Given the description of an element on the screen output the (x, y) to click on. 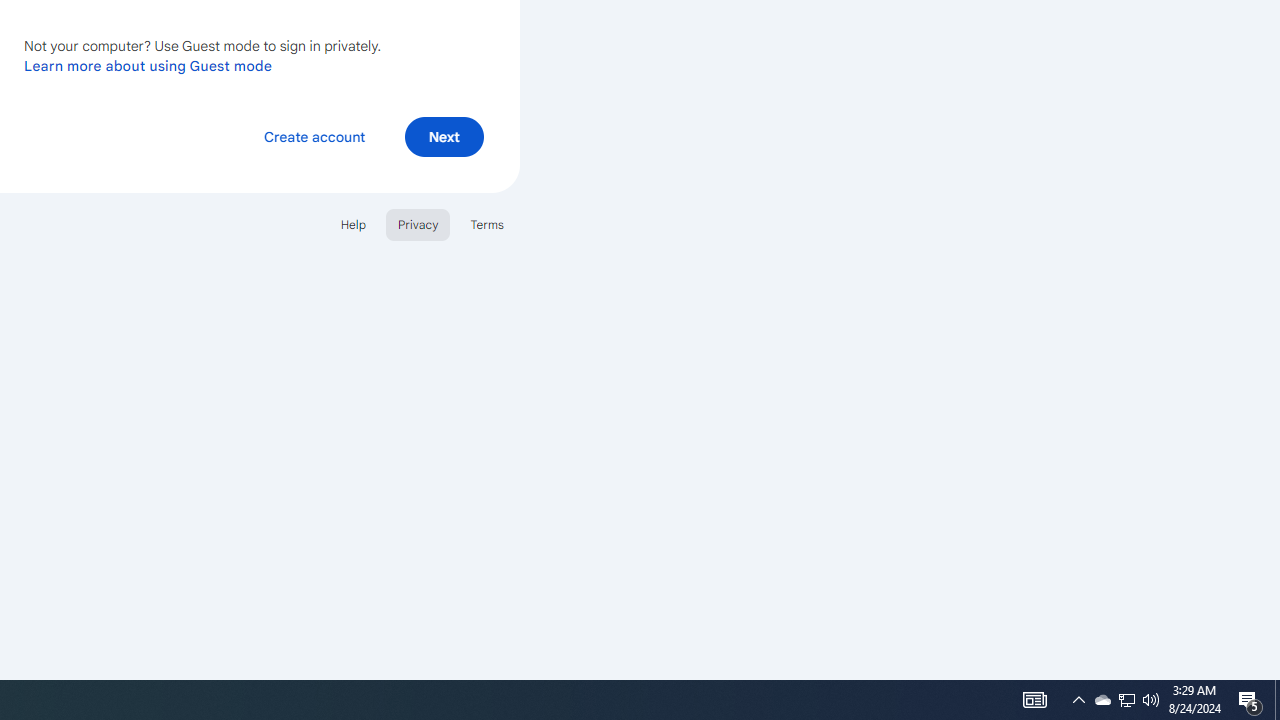
Terms (486, 224)
Help (352, 224)
Next (443, 135)
Privacy (417, 224)
Learn more about using Guest mode (148, 65)
Create account (314, 135)
